Given the description of an element on the screen output the (x, y) to click on. 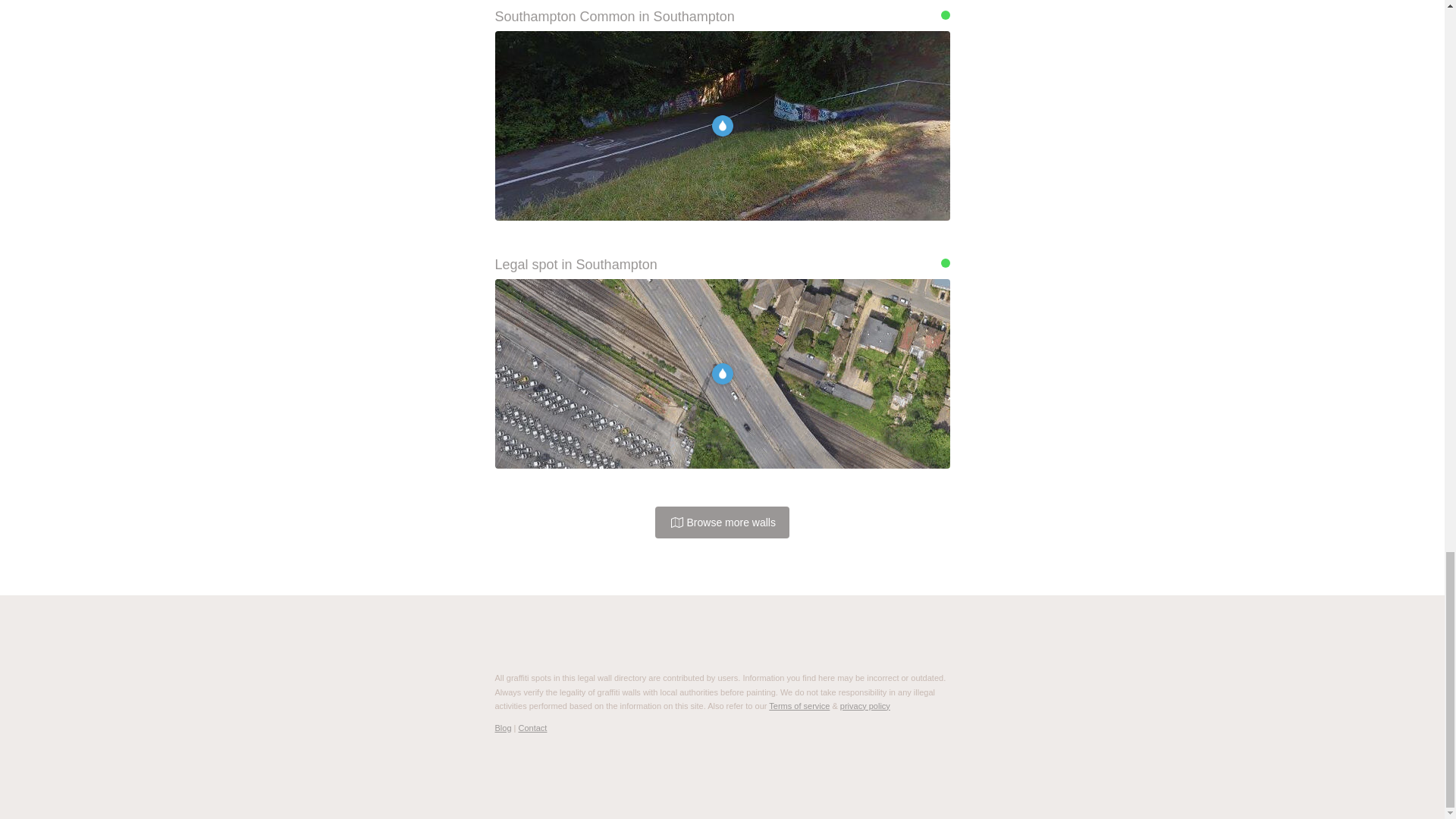
Blog (503, 727)
Southampton Common in Southampton (722, 16)
Contact (532, 727)
privacy policy (864, 705)
Legal spot in Southampton (722, 264)
Browse more walls (722, 522)
Terms of service (798, 705)
